Given the description of an element on the screen output the (x, y) to click on. 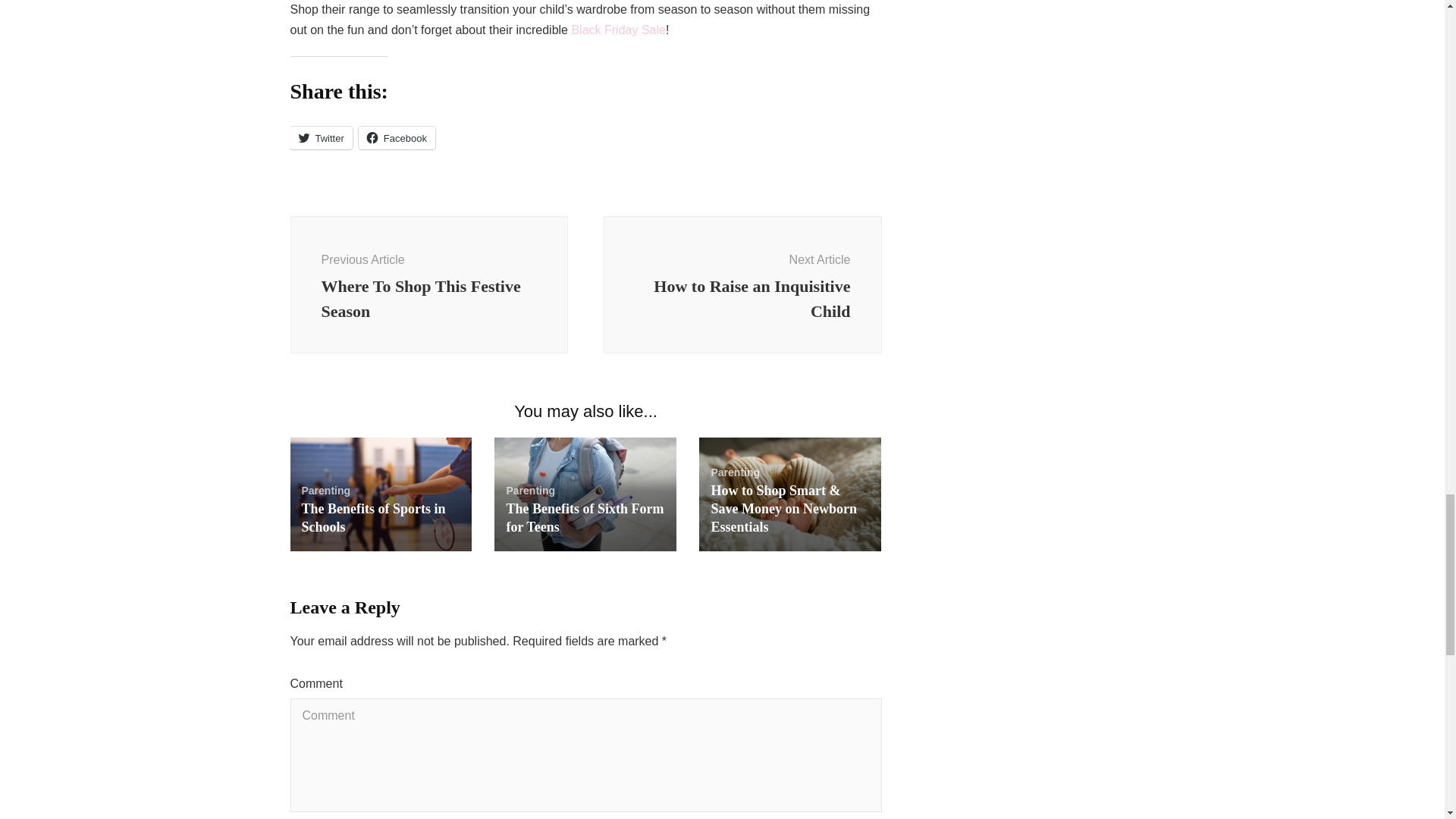
Twitter (320, 137)
Click to share on Twitter (320, 137)
Black Friday Sale (617, 29)
Click to share on Facebook (396, 137)
The Benefits of Sports in Schools (373, 517)
Facebook (396, 137)
Parenting (325, 490)
